Given the description of an element on the screen output the (x, y) to click on. 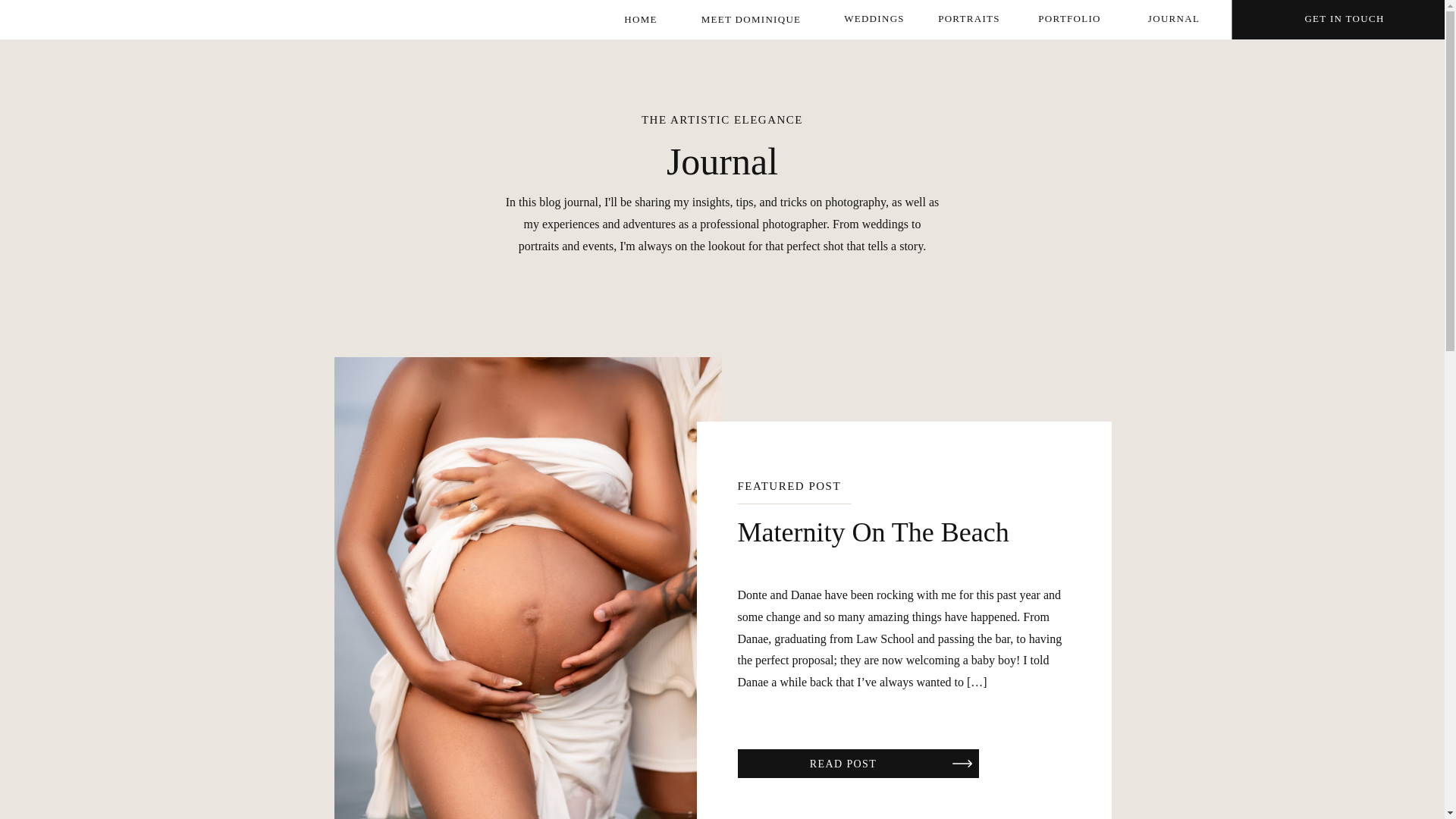
Maternity On The Beach (872, 531)
READ POST (842, 763)
PORTFOLIO (1069, 19)
PORTRAITS (968, 19)
HOME (641, 20)
Maternity on the Beach (961, 763)
WEDDINGS (874, 19)
Maternity on the Beach (842, 763)
JOURNAL (1173, 19)
MEET DOMINIQUE (750, 20)
GET IN TOUCH (1343, 19)
